Given the description of an element on the screen output the (x, y) to click on. 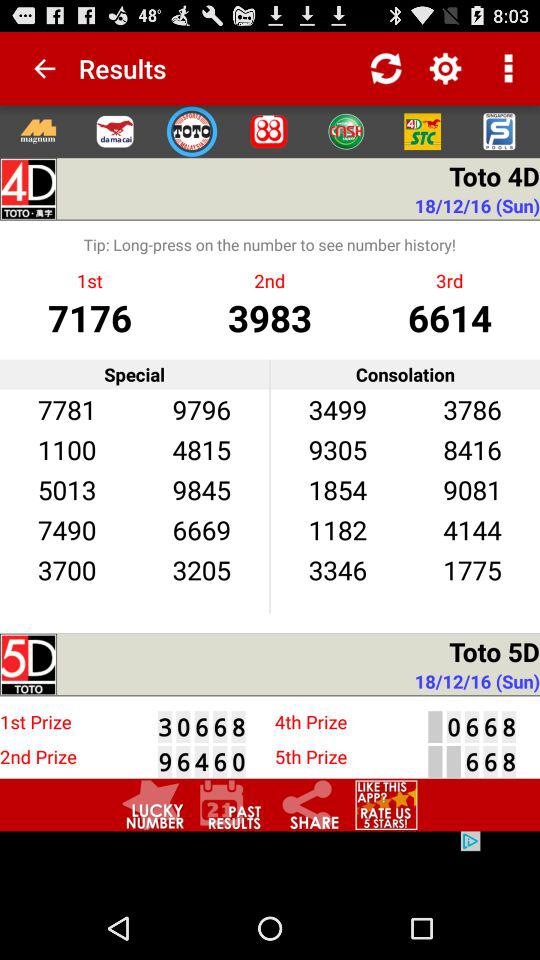
refresh the results (386, 68)
